Given the description of an element on the screen output the (x, y) to click on. 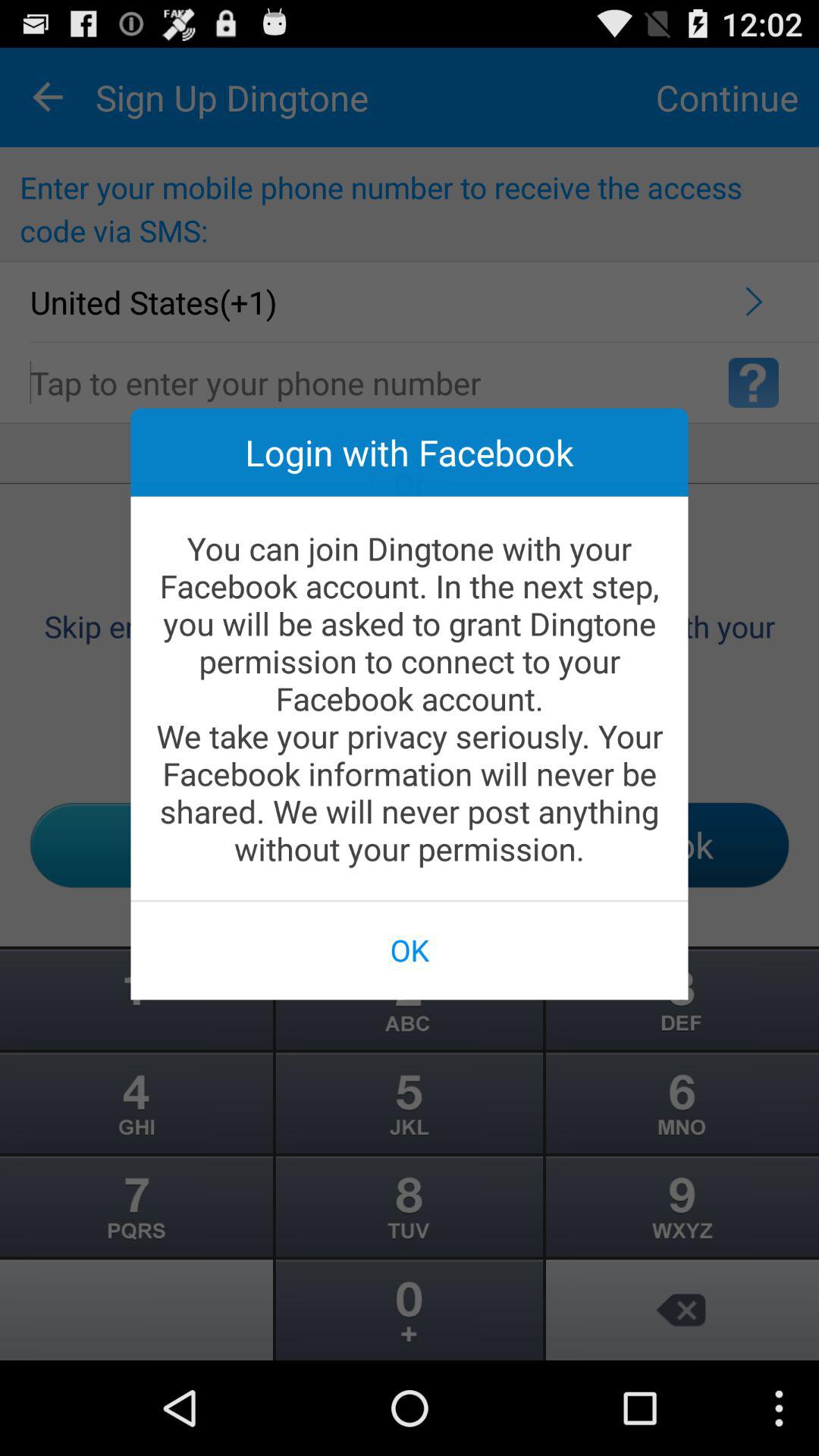
jump to the ok (409, 949)
